Given the description of an element on the screen output the (x, y) to click on. 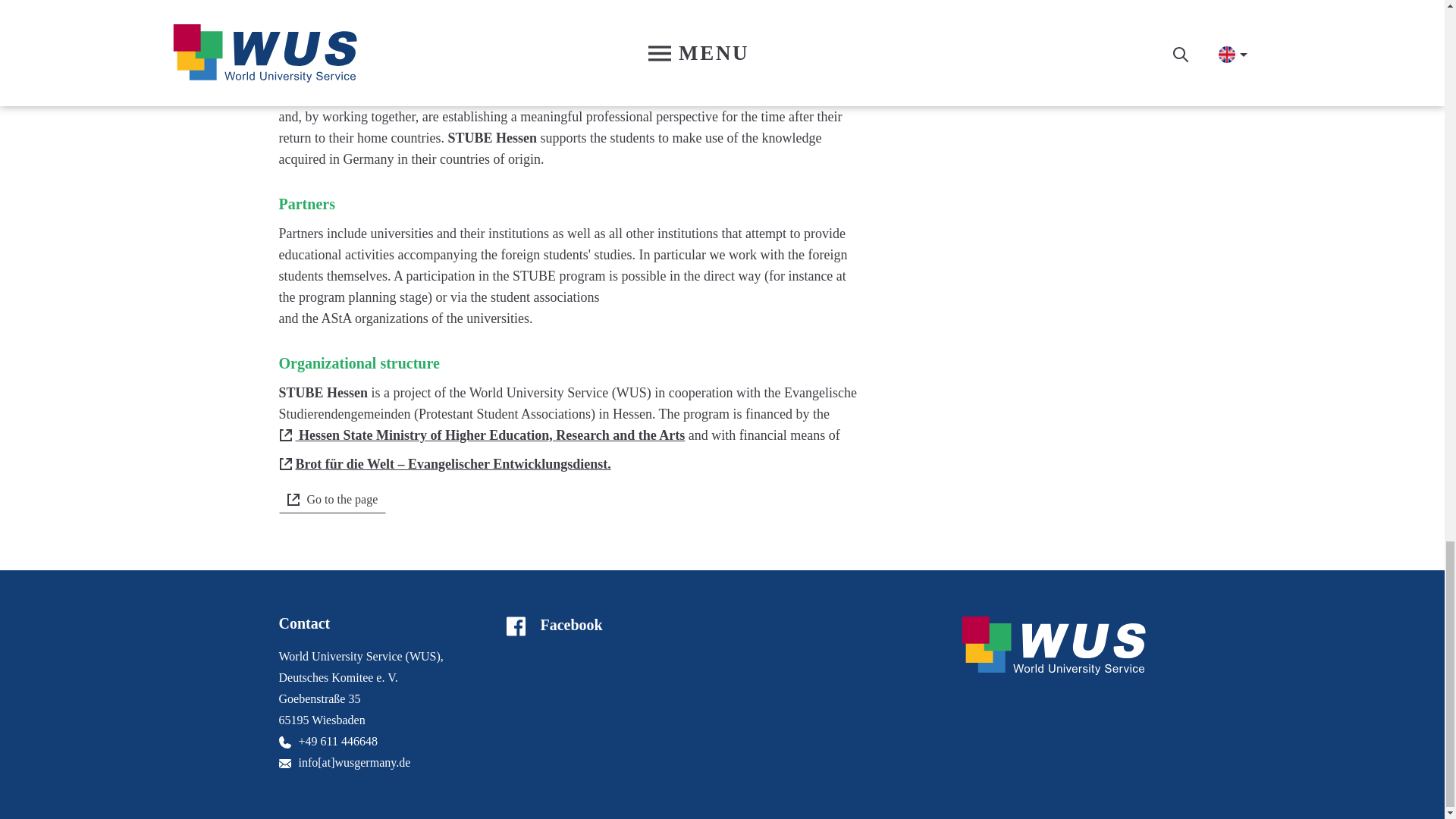
Absenden (964, 13)
E-Mail (285, 764)
Logo (1052, 645)
Phone (285, 742)
facebook Icon (515, 626)
